Given the description of an element on the screen output the (x, y) to click on. 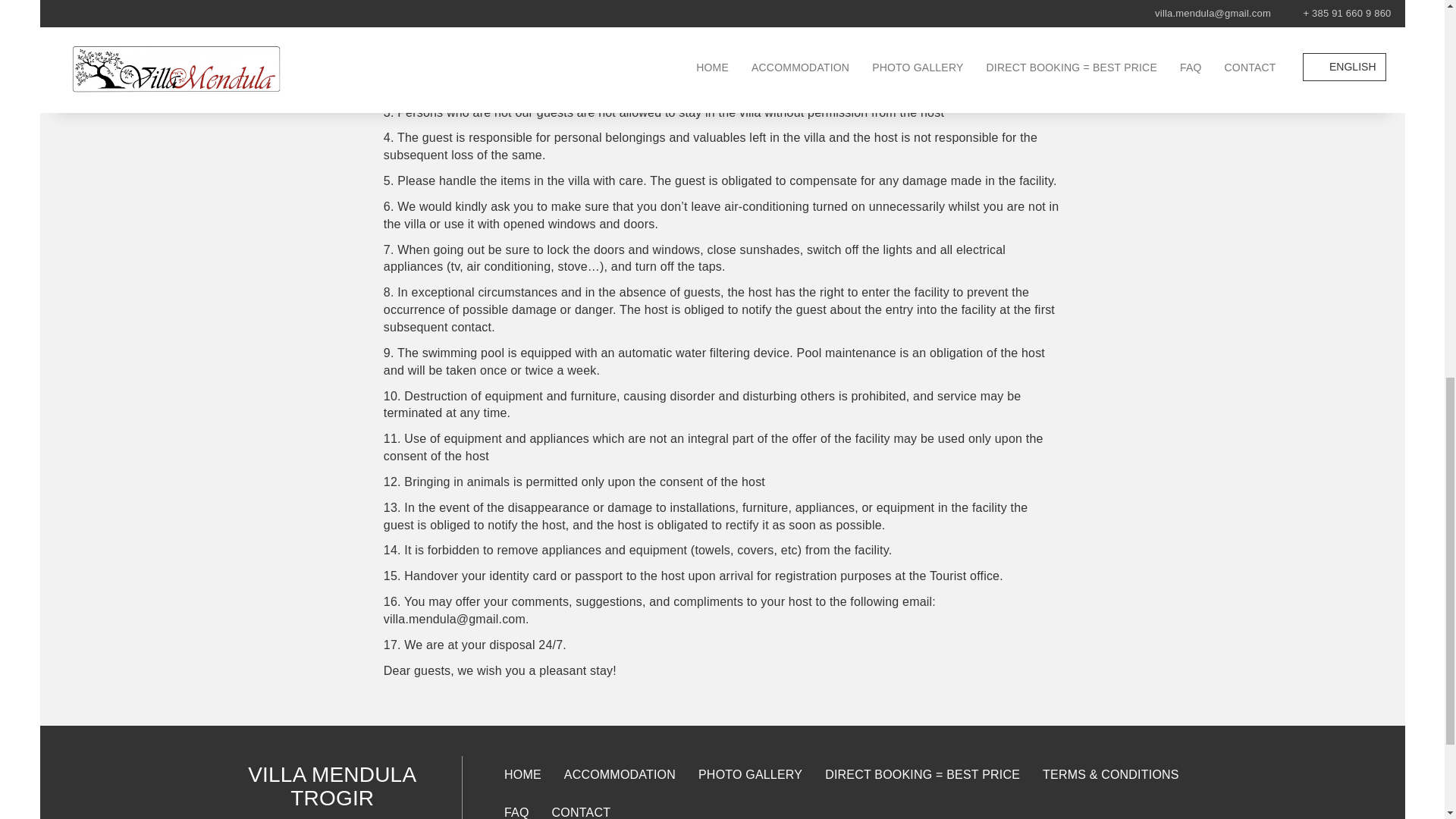
PHOTO GALLERY (750, 774)
ACCOMMODATION (620, 774)
FAQ (516, 806)
CONTACT (581, 806)
HOME (523, 774)
